Given the description of an element on the screen output the (x, y) to click on. 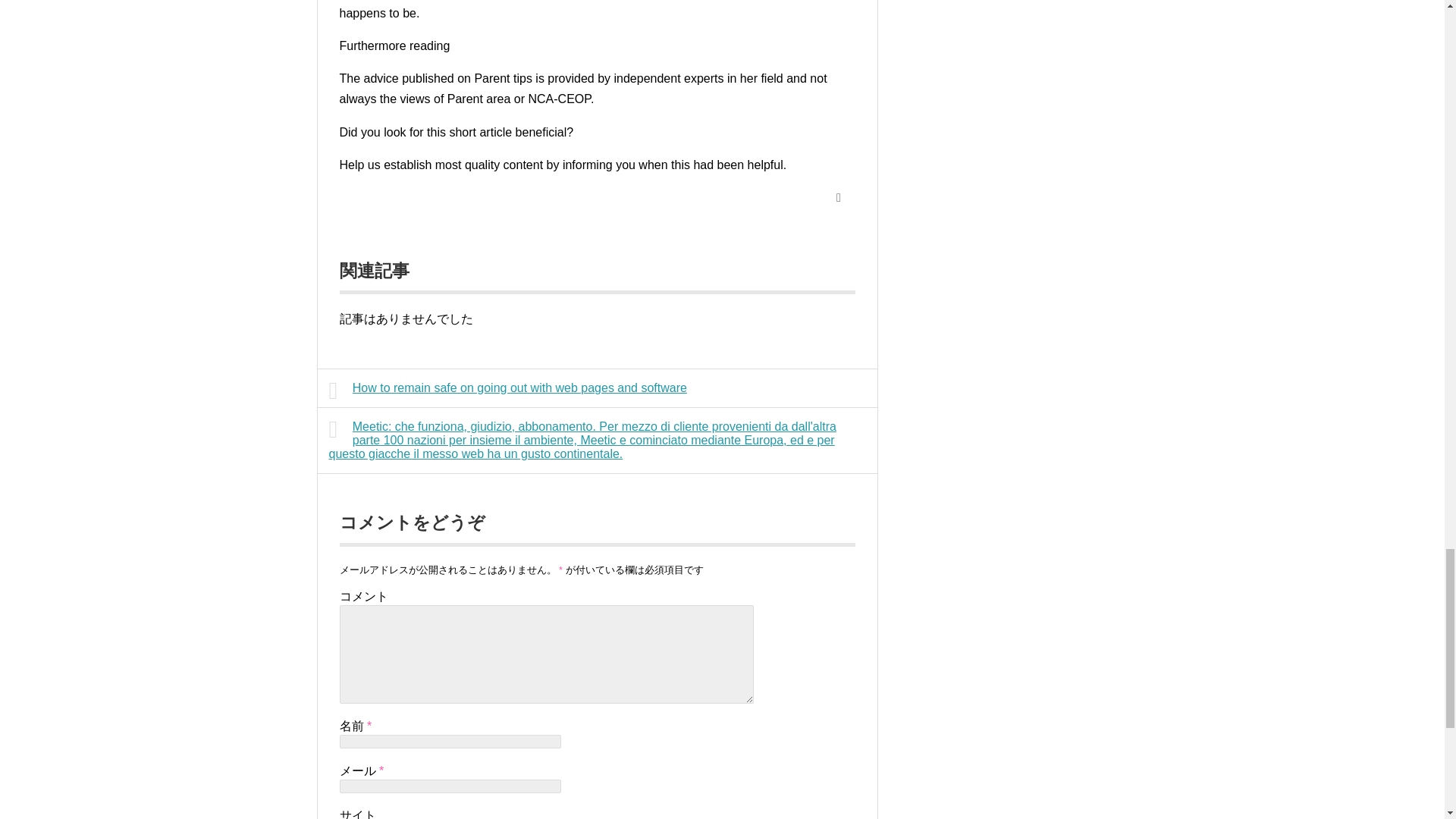
How to remain safe on going out with web pages and software (597, 388)
